Given the description of an element on the screen output the (x, y) to click on. 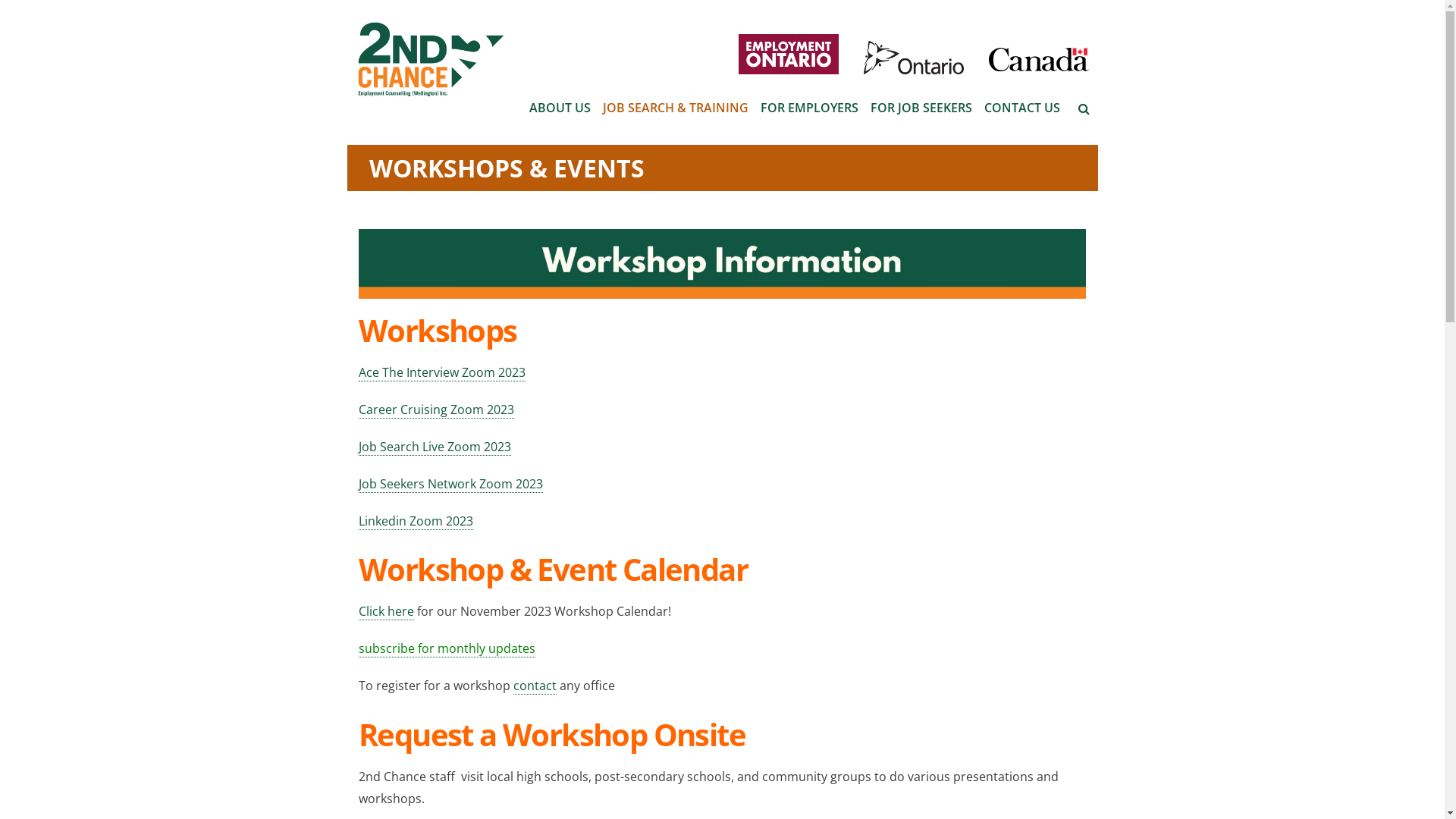
Click here Element type: text (386, 611)
ABOUT US Element type: text (559, 107)
SEARCH FORM TOGGLE Element type: text (1084, 106)
JOB SEARCH & TRAINING Element type: text (674, 107)
CONTACT US Element type: text (1022, 107)
Job Seekers Network Zoom 2023 Element type: text (450, 483)
Ace The Interview Zoom 2023 Element type: text (441, 372)
contact Element type: text (534, 685)
FOR JOB SEEKERS Element type: text (921, 107)
Career Cruising Zoom 2023 Element type: text (436, 409)
Job Search Live Zoom 2023 Element type: text (434, 446)
Linkedin Zoom 2023 Element type: text (415, 521)
FOR EMPLOYERS Element type: text (808, 107)
subscribe for monthly updates Element type: text (446, 648)
